Given the description of an element on the screen output the (x, y) to click on. 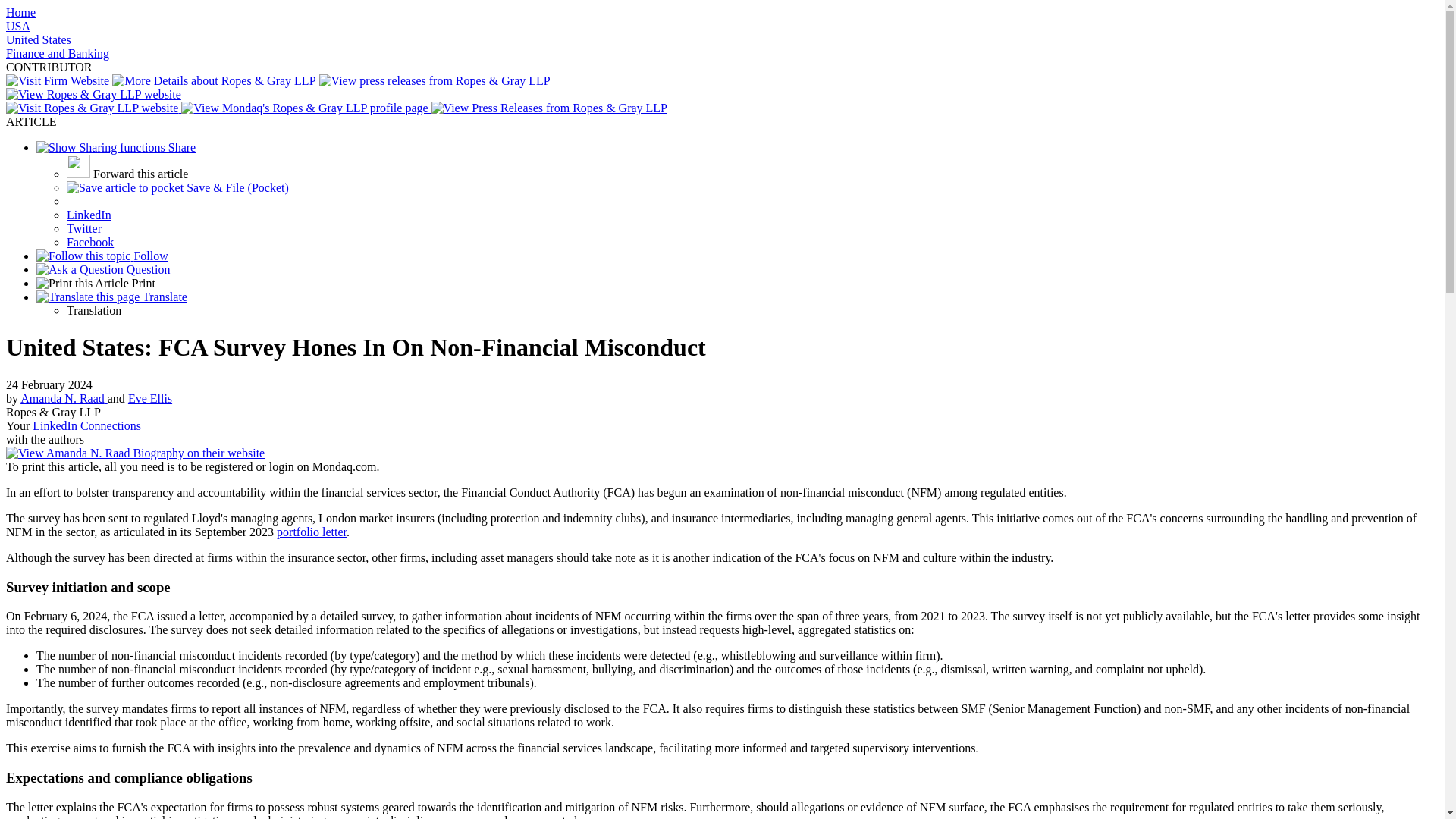
Facebook (89, 241)
Amanda N. Raad (63, 398)
Eve Ellis (149, 398)
Filter only by Finance and Banking (57, 52)
portfolio letter (311, 531)
Print (95, 282)
View this authors biography on their website (149, 398)
USA (17, 25)
Forward this article (126, 173)
Question (103, 269)
Home (19, 11)
View this authors biography on their website (134, 452)
Twitter (83, 228)
United States (38, 39)
LinkedIn Connections (86, 425)
